Given the description of an element on the screen output the (x, y) to click on. 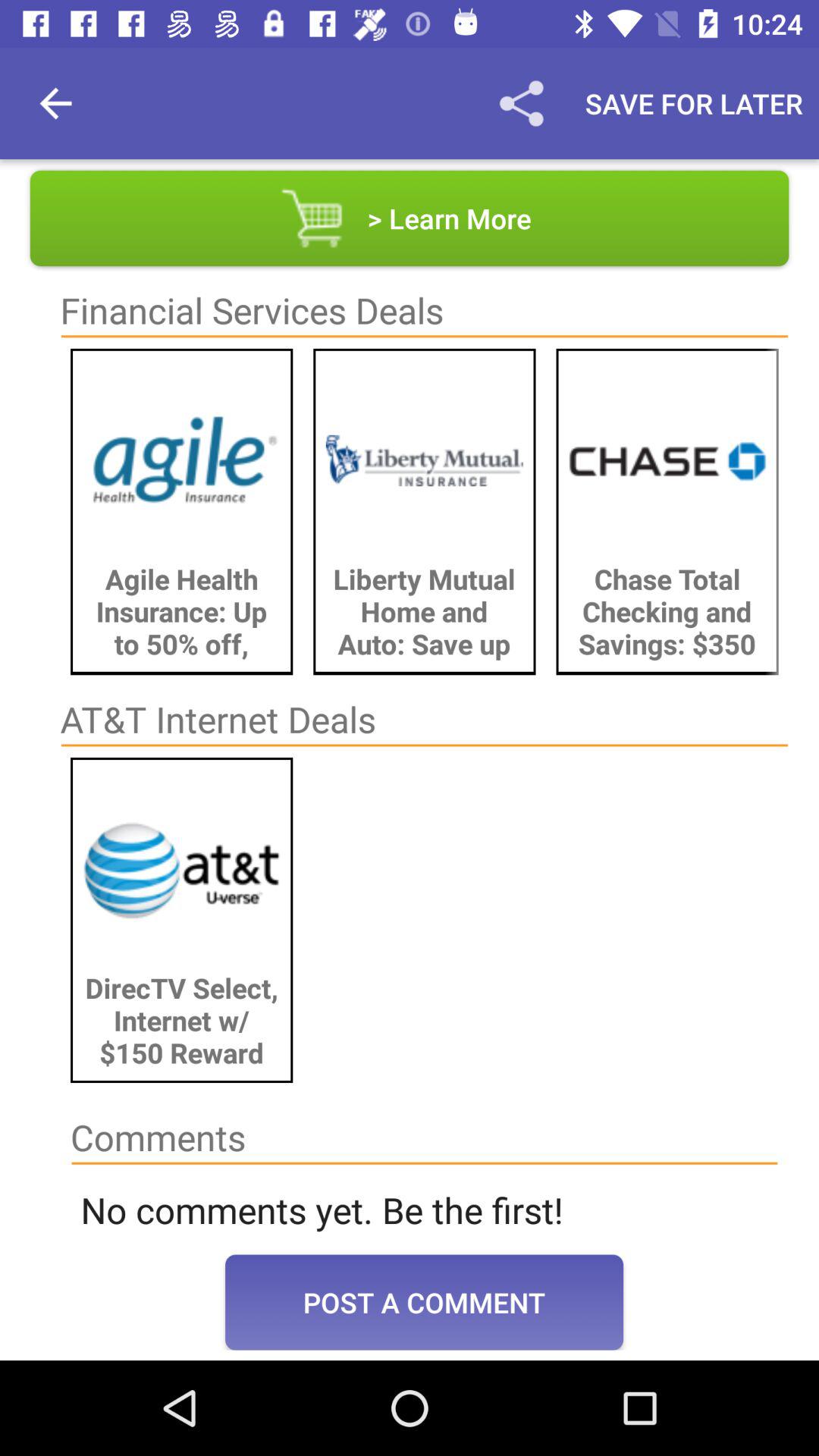
select the icon above the > learn more (521, 103)
